Given the description of an element on the screen output the (x, y) to click on. 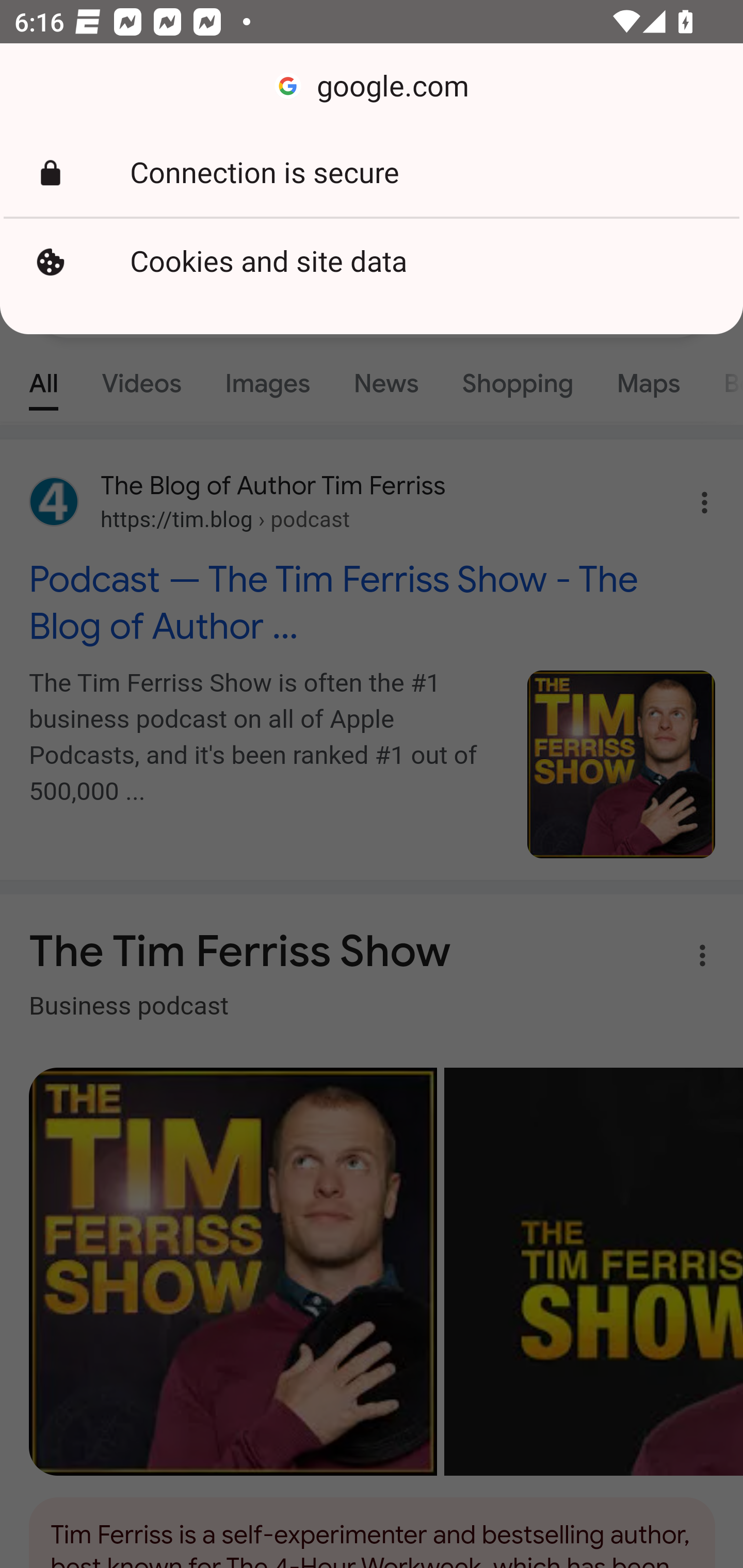
google.com (371, 86)
Connection is secure (371, 173)
Cookies and site data (371, 261)
